Given the description of an element on the screen output the (x, y) to click on. 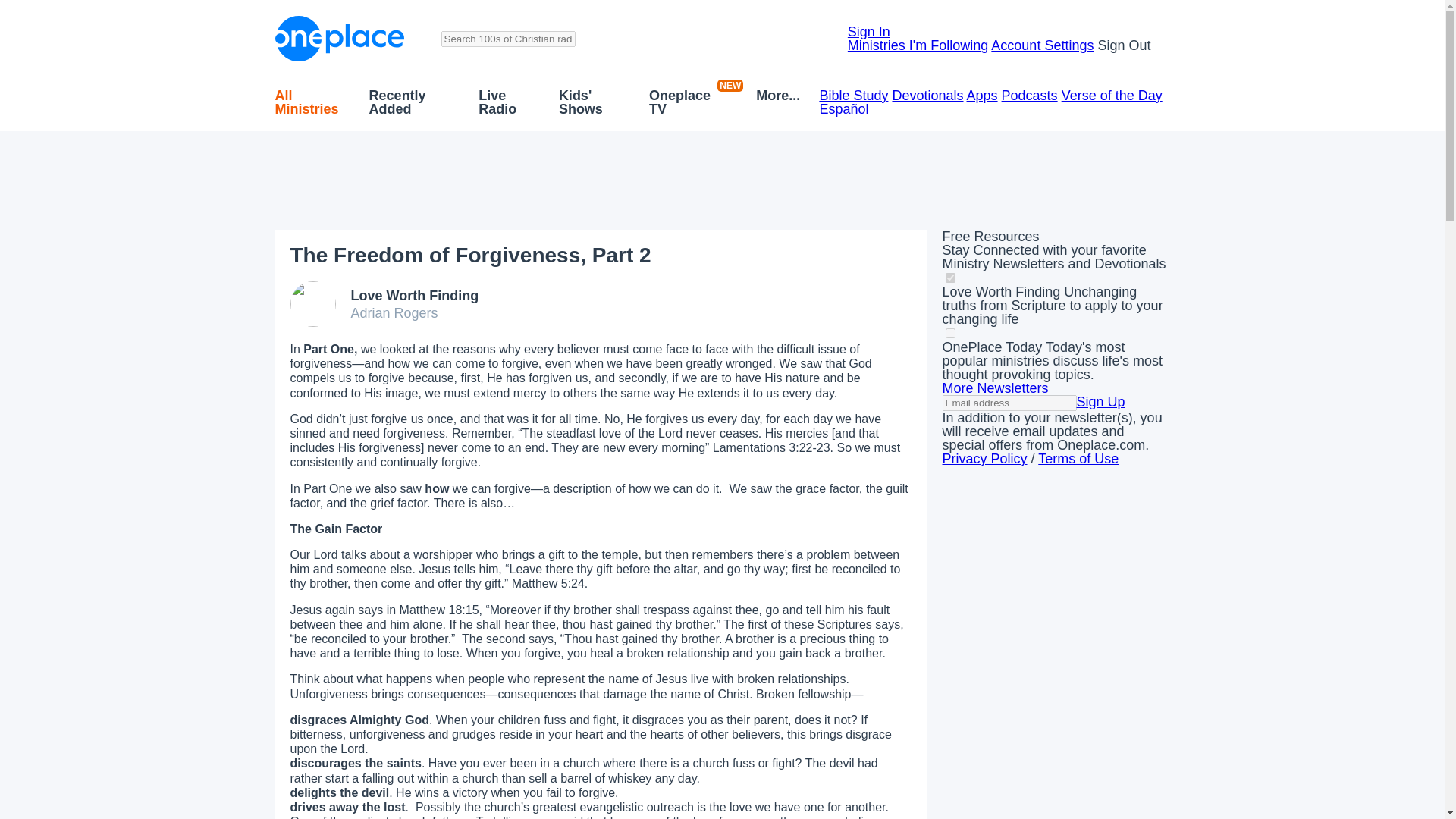
Live Radio (509, 102)
Adrian Rogers (394, 312)
Oneplace TV (685, 102)
All Ministries (312, 102)
Love Worth Finding (414, 295)
More... (777, 102)
Kids' Shows (594, 102)
Recently Added (414, 102)
